Given the description of an element on the screen output the (x, y) to click on. 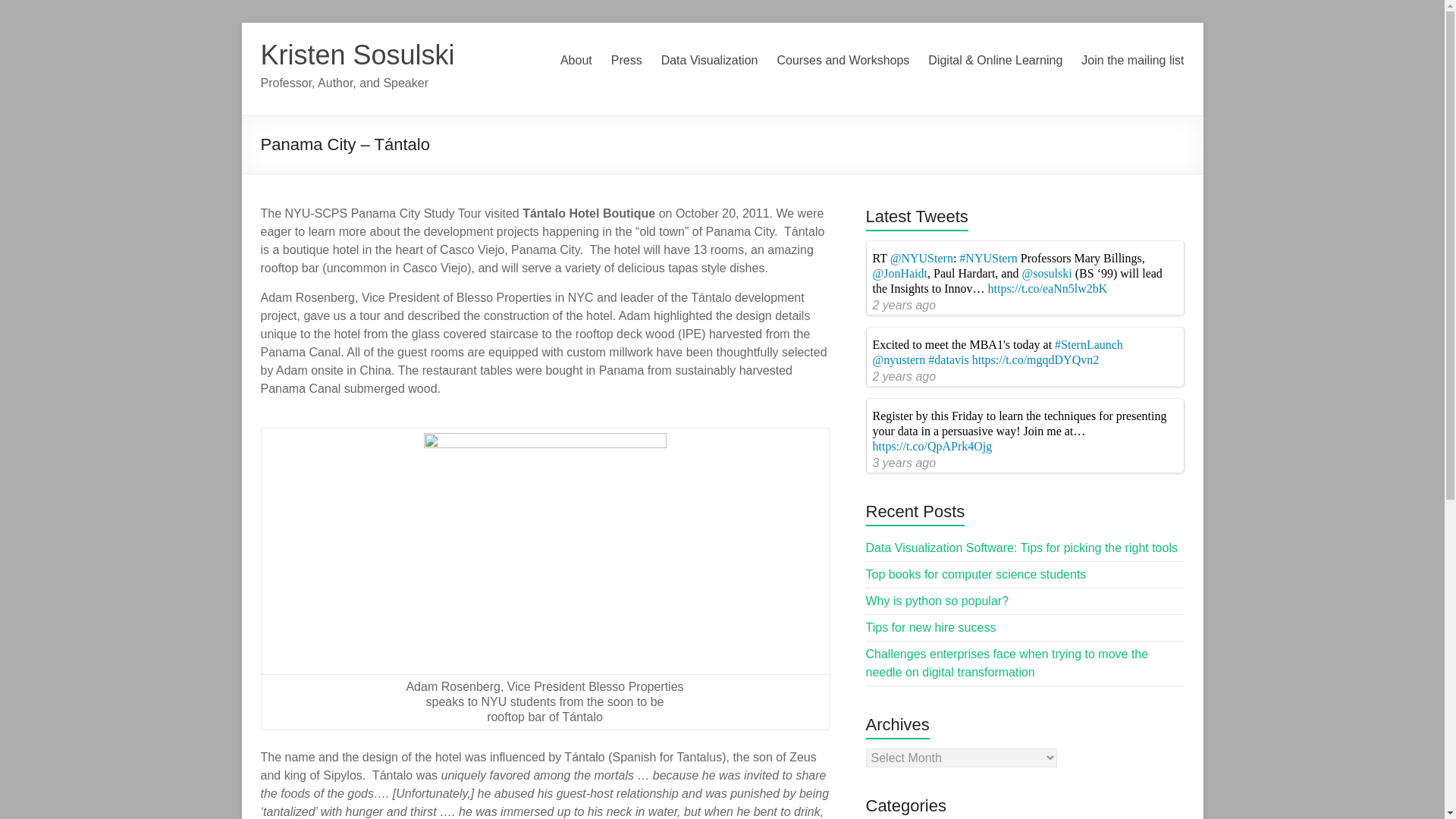
Top books for computer science students (976, 574)
Courses and Workshops (842, 60)
2 years ago (904, 305)
2 years ago (904, 376)
Kristen Sosulski (357, 54)
Kristen Sosulski (357, 54)
3 years ago (904, 462)
Join the mailing list (1132, 60)
Press (626, 60)
About (576, 60)
Data Visualization (709, 60)
